Given the description of an element on the screen output the (x, y) to click on. 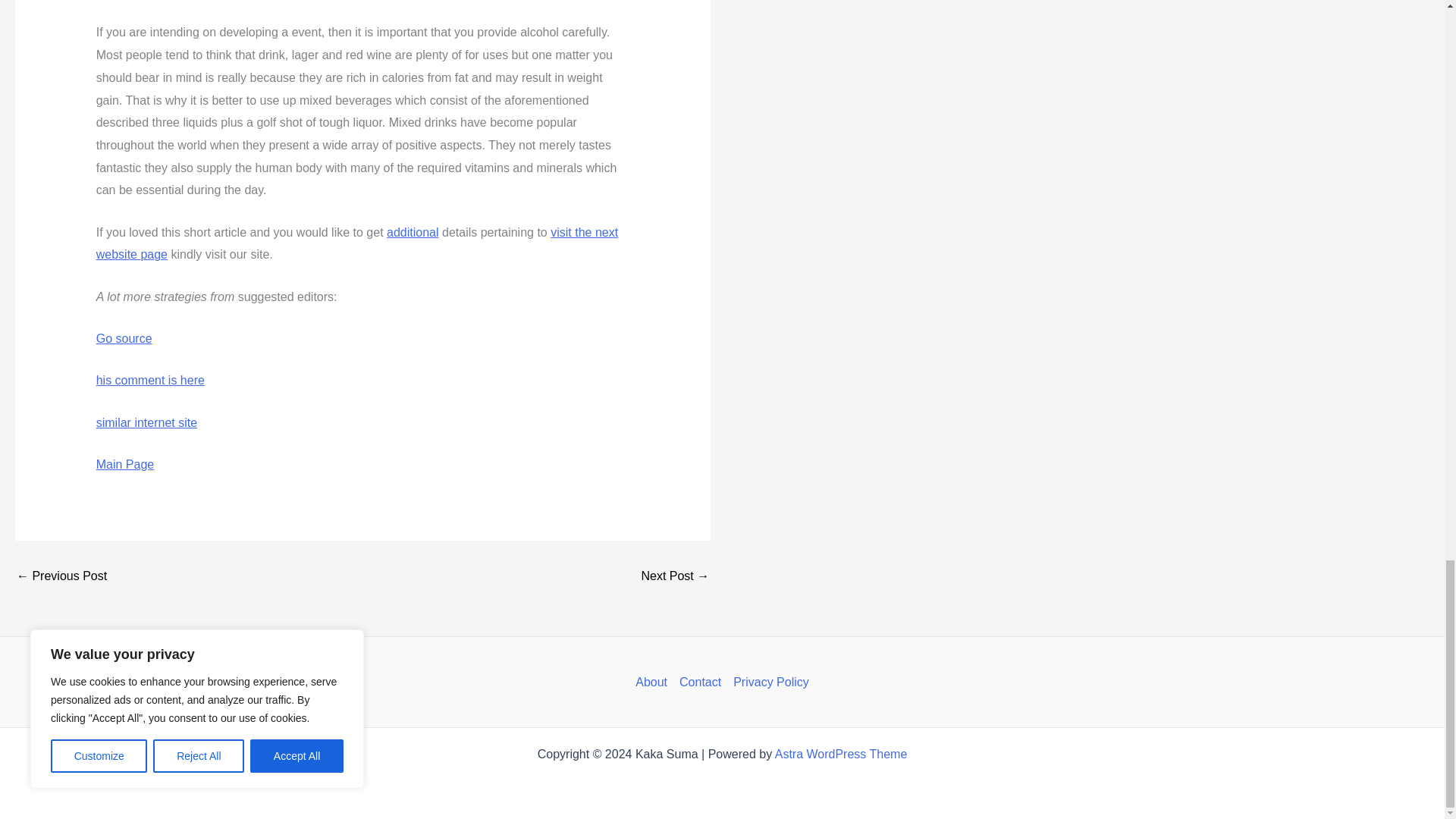
visit the next website page (356, 243)
similar internet site (146, 422)
Go source (124, 338)
Buying Designer Glasses (61, 576)
Online Casino Games And Online Internet Casino Tips (674, 576)
his comment is here (150, 379)
additional (413, 232)
Main Page (125, 463)
